Given the description of an element on the screen output the (x, y) to click on. 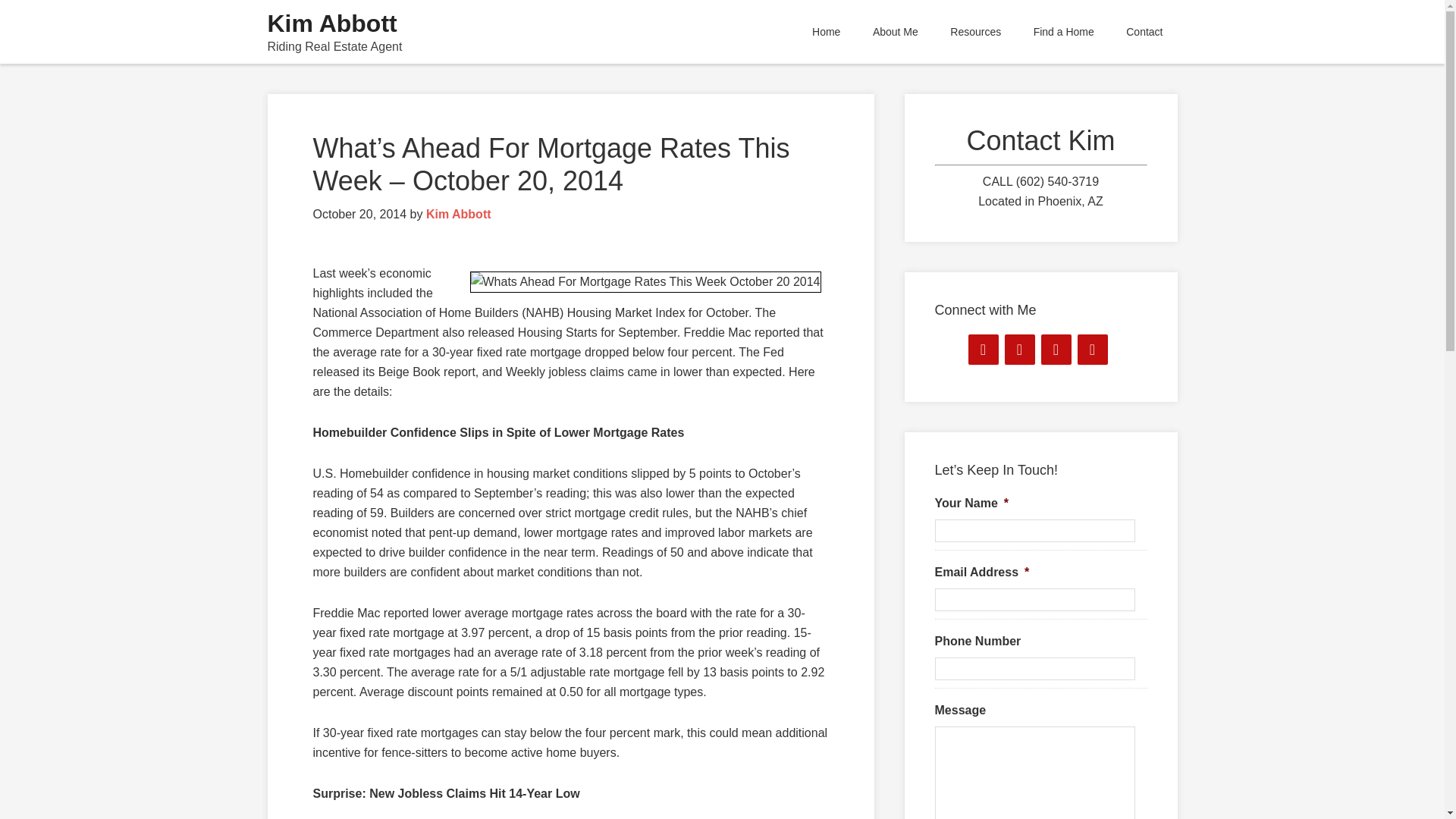
Kim Abbott (459, 214)
About Me (896, 31)
Home (825, 31)
Resources (975, 31)
Whats Ahead For Mortgage Rates This Week October 20 2014 (645, 281)
Contact (1144, 31)
Find a Home (1063, 31)
Kim Abbott (331, 22)
